Given the description of an element on the screen output the (x, y) to click on. 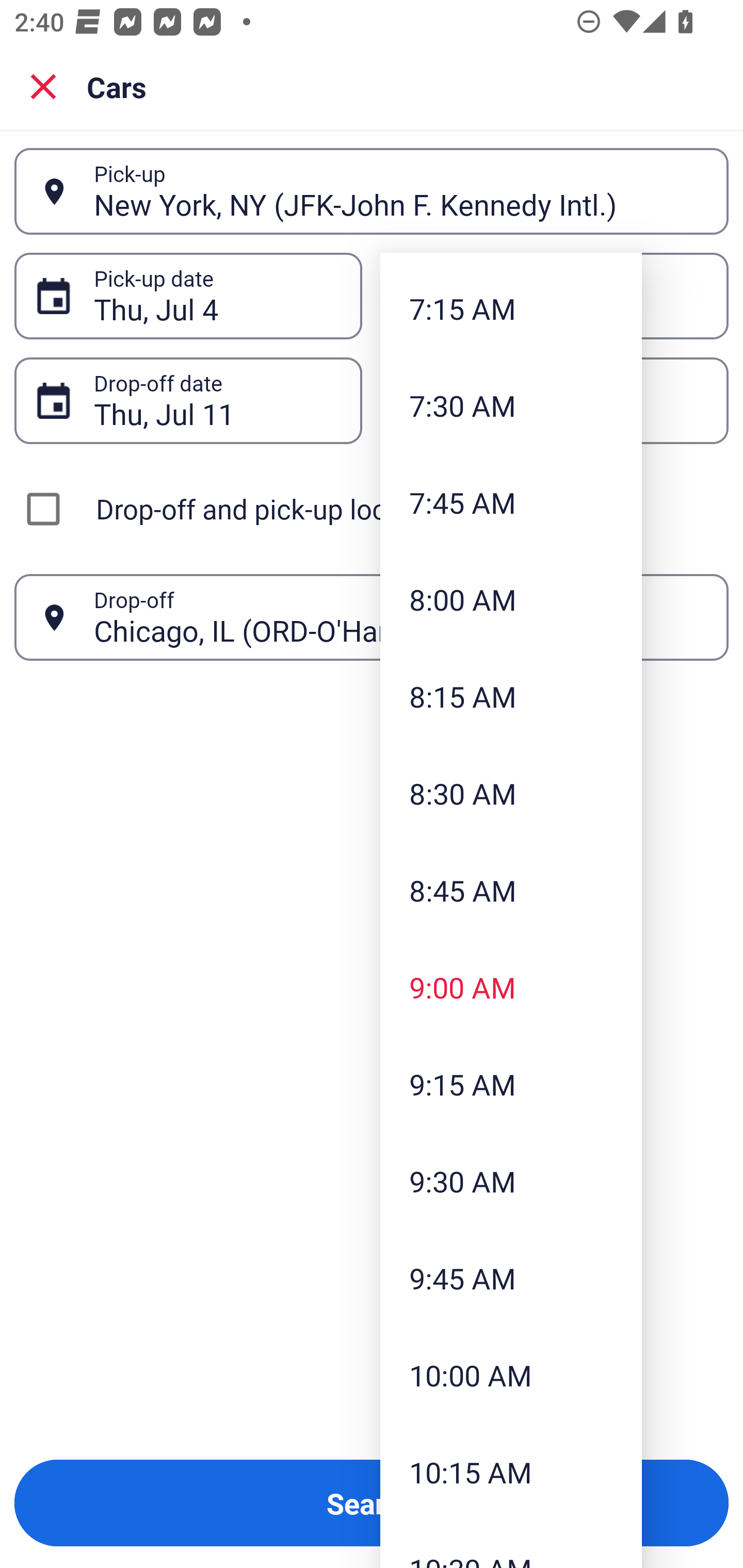
7:15 AM (510, 308)
7:30 AM (510, 405)
7:45 AM (510, 501)
8:00 AM (510, 598)
8:15 AM (510, 695)
8:30 AM (510, 793)
8:45 AM (510, 890)
9:00 AM (510, 987)
9:15 AM (510, 1084)
9:30 AM (510, 1180)
9:45 AM (510, 1277)
10:00 AM (510, 1374)
10:15 AM (510, 1471)
